Given the description of an element on the screen output the (x, y) to click on. 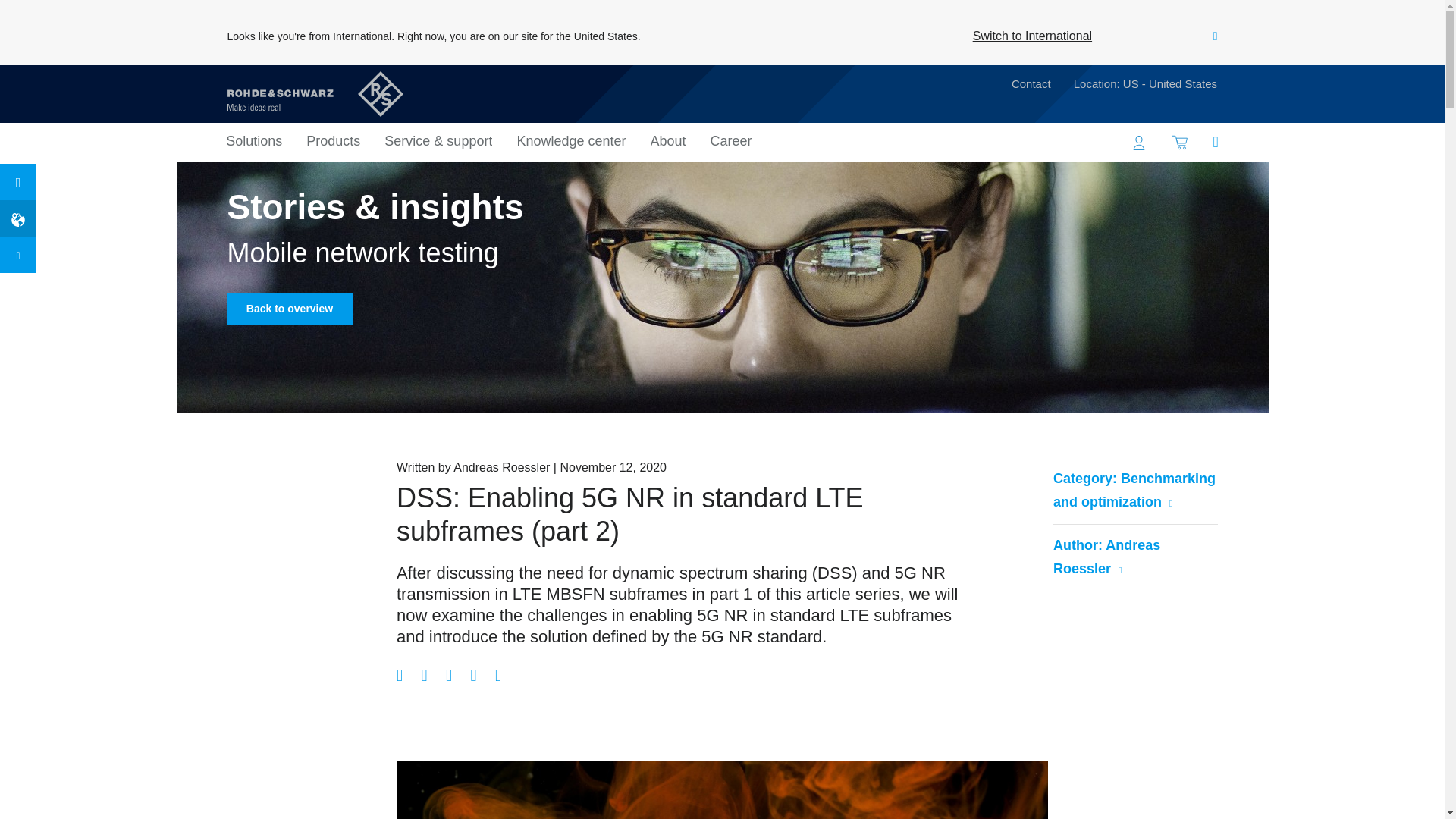
Author: Andreas Roessler (1134, 557)
Back to overview (289, 308)
Contact (1031, 85)
Category: Benchmarking and optimization (1134, 490)
Switch to International (1032, 36)
Customer portal (1139, 142)
